Given the description of an element on the screen output the (x, y) to click on. 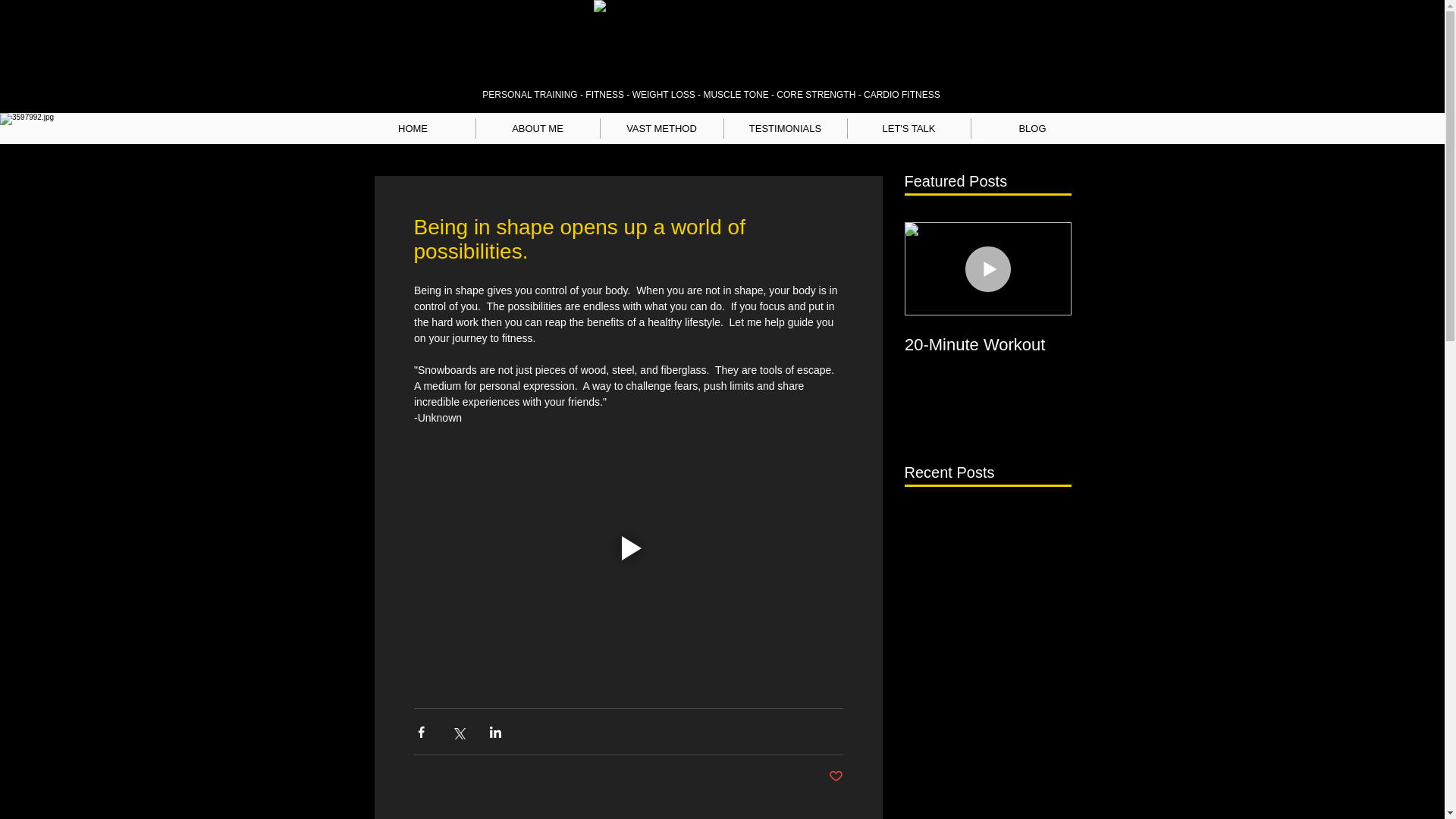
HOME (412, 127)
TESTIMONIALS (784, 127)
LET'S TALK (909, 127)
ABOUT ME (537, 127)
BLOG (1032, 127)
Post not marked as liked (835, 776)
Health by David-01.jpg (710, 40)
20-Minute Workout (987, 344)
